Given the description of an element on the screen output the (x, y) to click on. 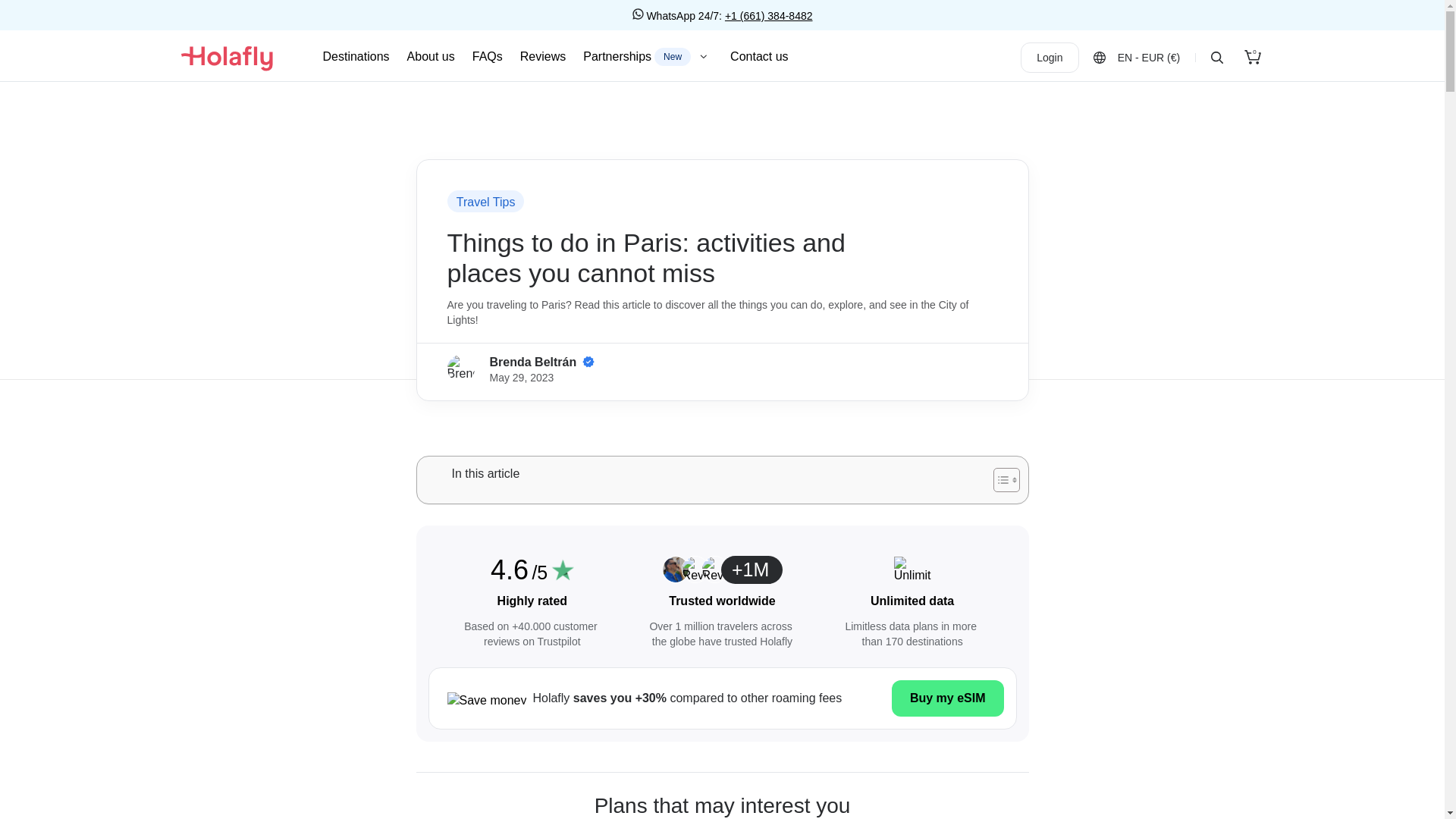
Contact us (758, 56)
Reviews (542, 56)
FAQs (486, 56)
Destinations (356, 56)
Travel Tips (648, 56)
Login (486, 202)
0 (1049, 57)
About us (1252, 57)
